Given the description of an element on the screen output the (x, y) to click on. 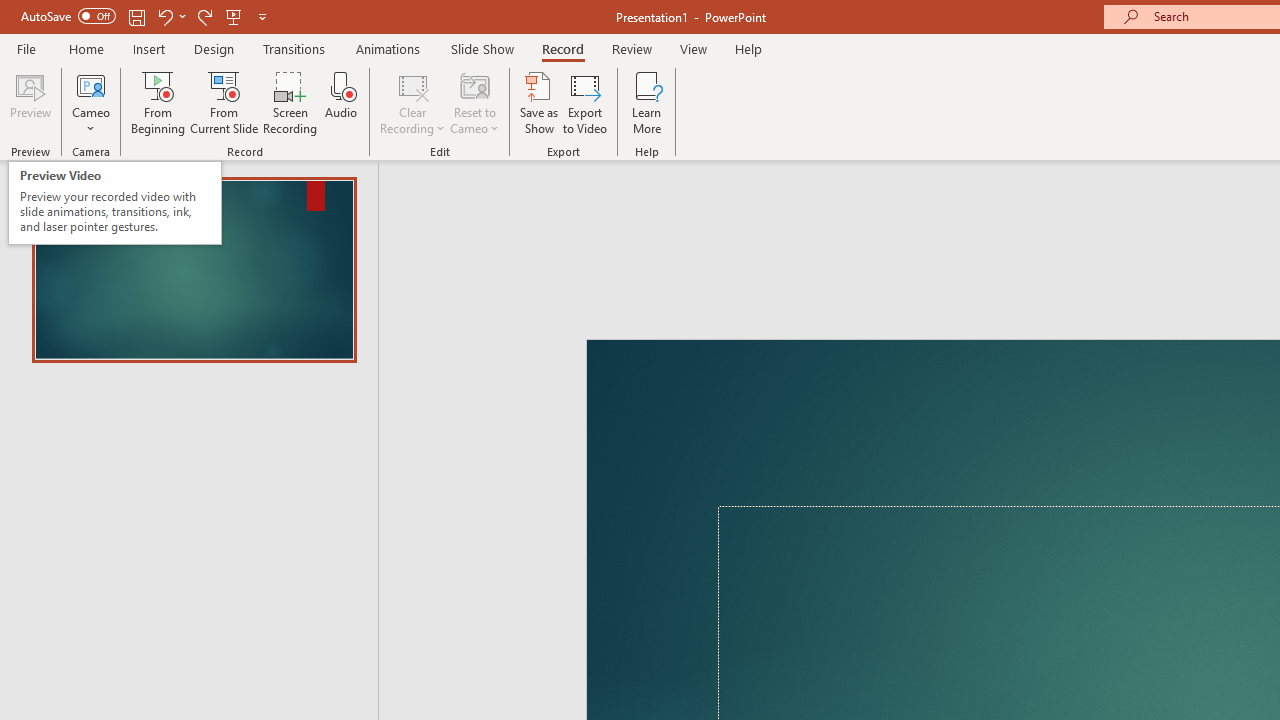
Clear Recording (412, 102)
Screen Recording (290, 102)
